Given the description of an element on the screen output the (x, y) to click on. 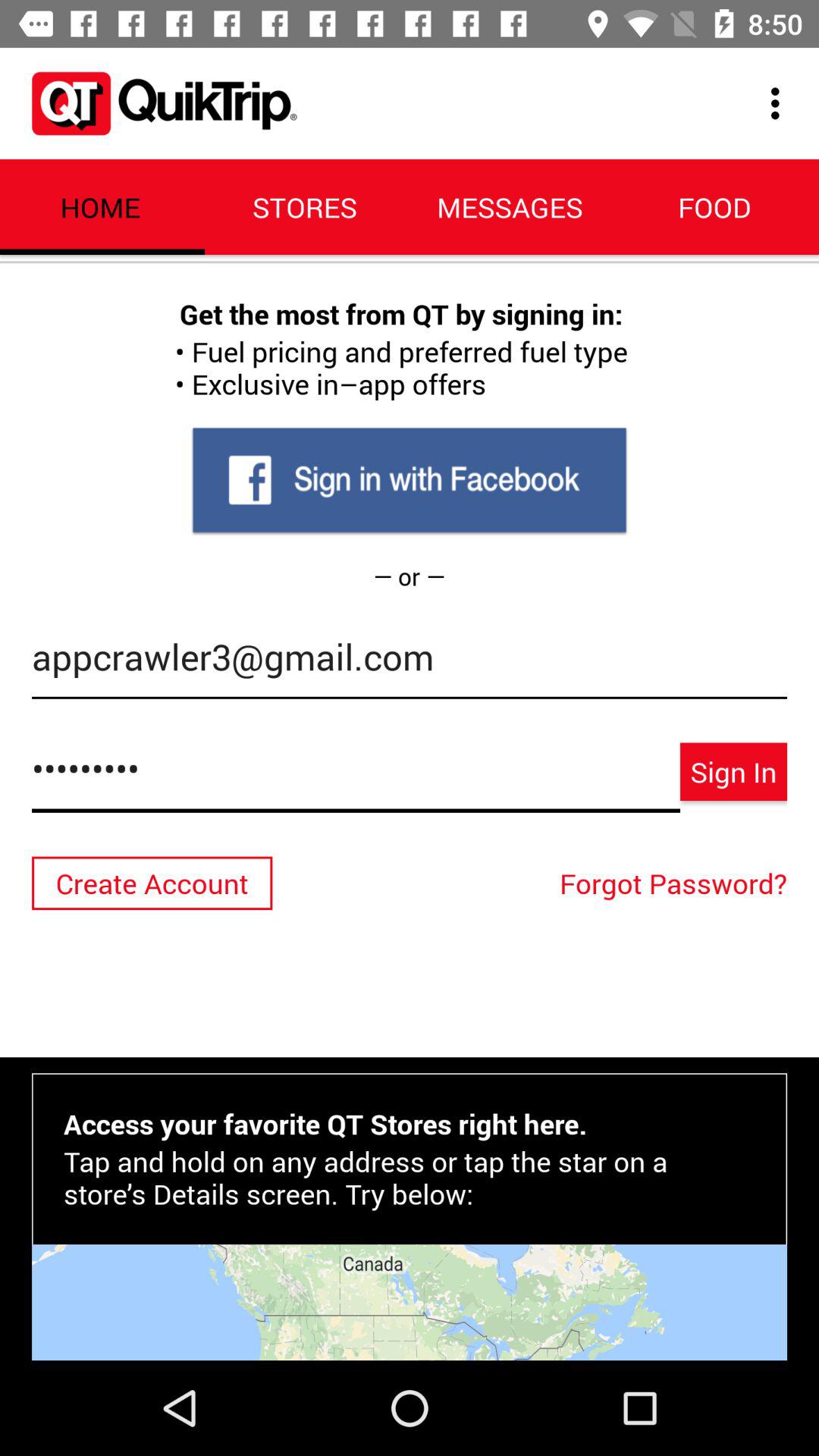
jump to the appcrawler3@gmail.com item (409, 664)
